Given the description of an element on the screen output the (x, y) to click on. 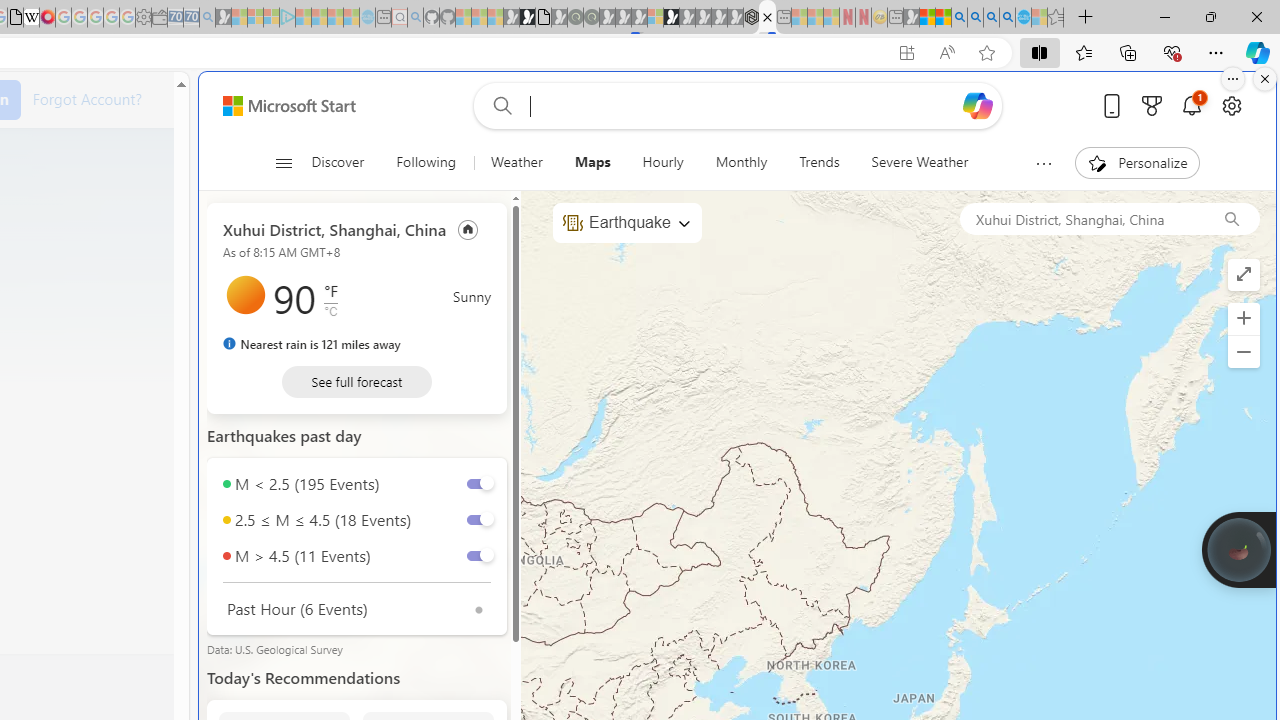
Microsoft account | Privacy - Sleeping (271, 17)
Personalize (1137, 162)
Split screen (1039, 52)
More options. (1233, 79)
Hourly (662, 162)
Discover (346, 162)
Microsoft rewards (1151, 105)
Weather (516, 162)
